Given the description of an element on the screen output the (x, y) to click on. 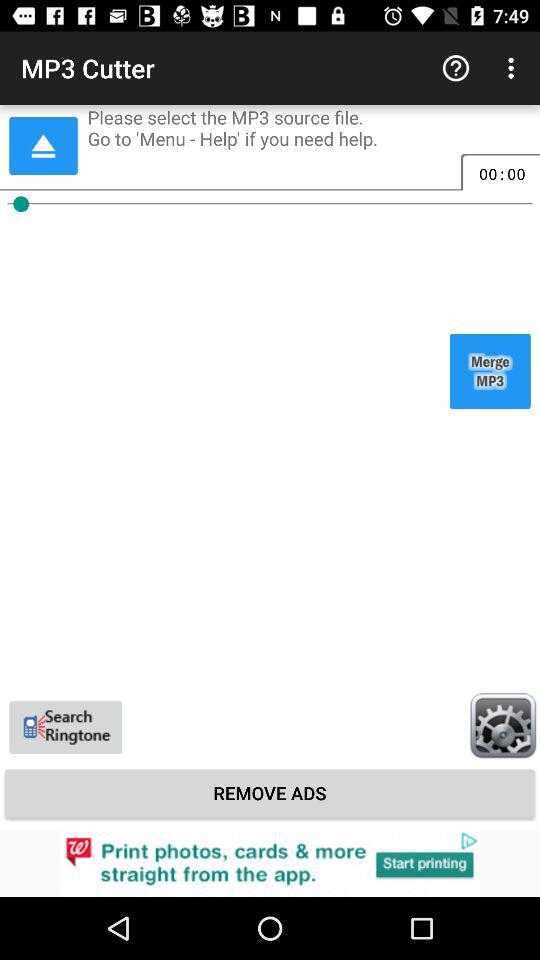
click the advertisement at bottom (270, 864)
